Given the description of an element on the screen output the (x, y) to click on. 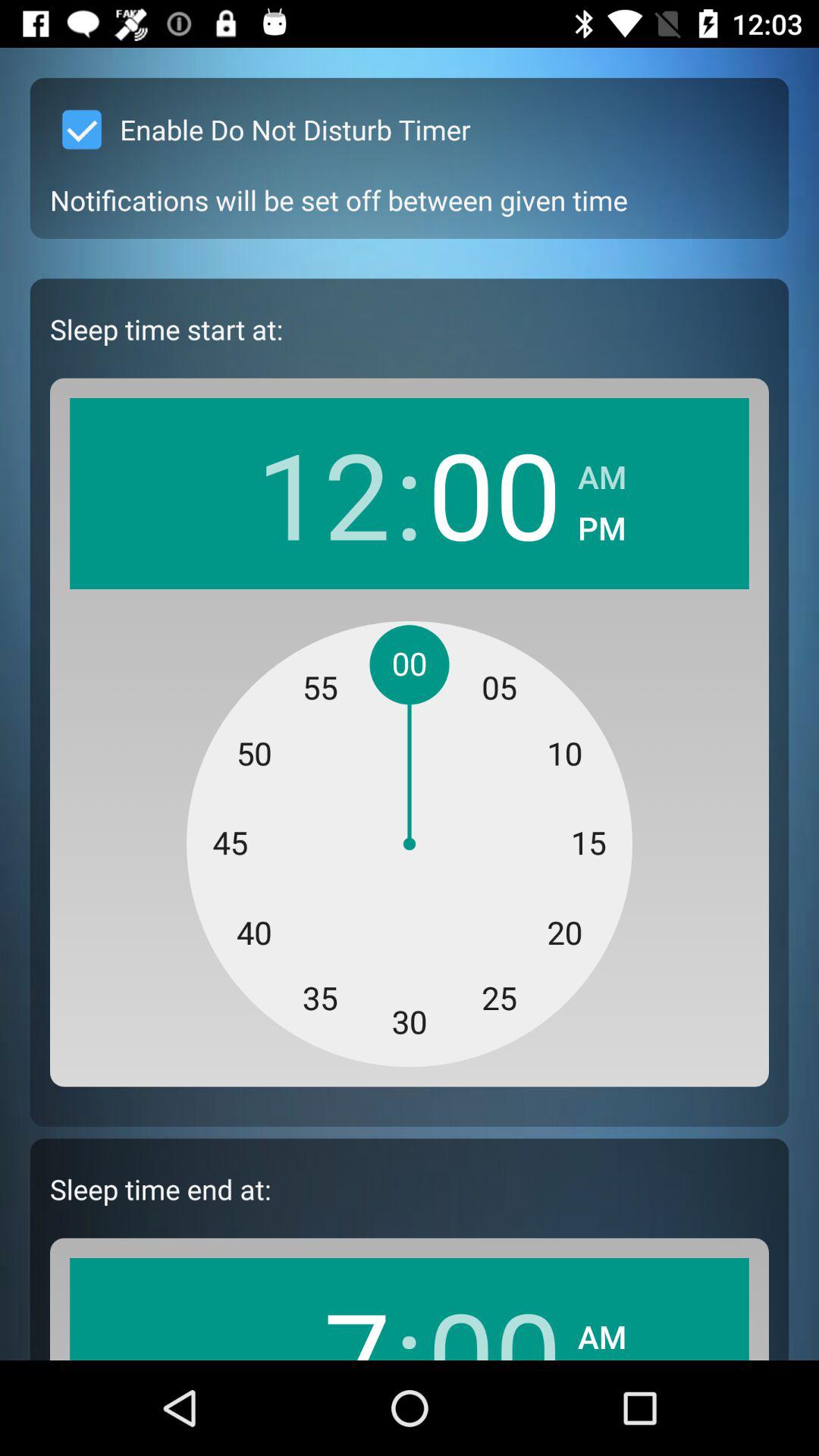
select item to the left of : app (323, 1317)
